Given the description of an element on the screen output the (x, y) to click on. 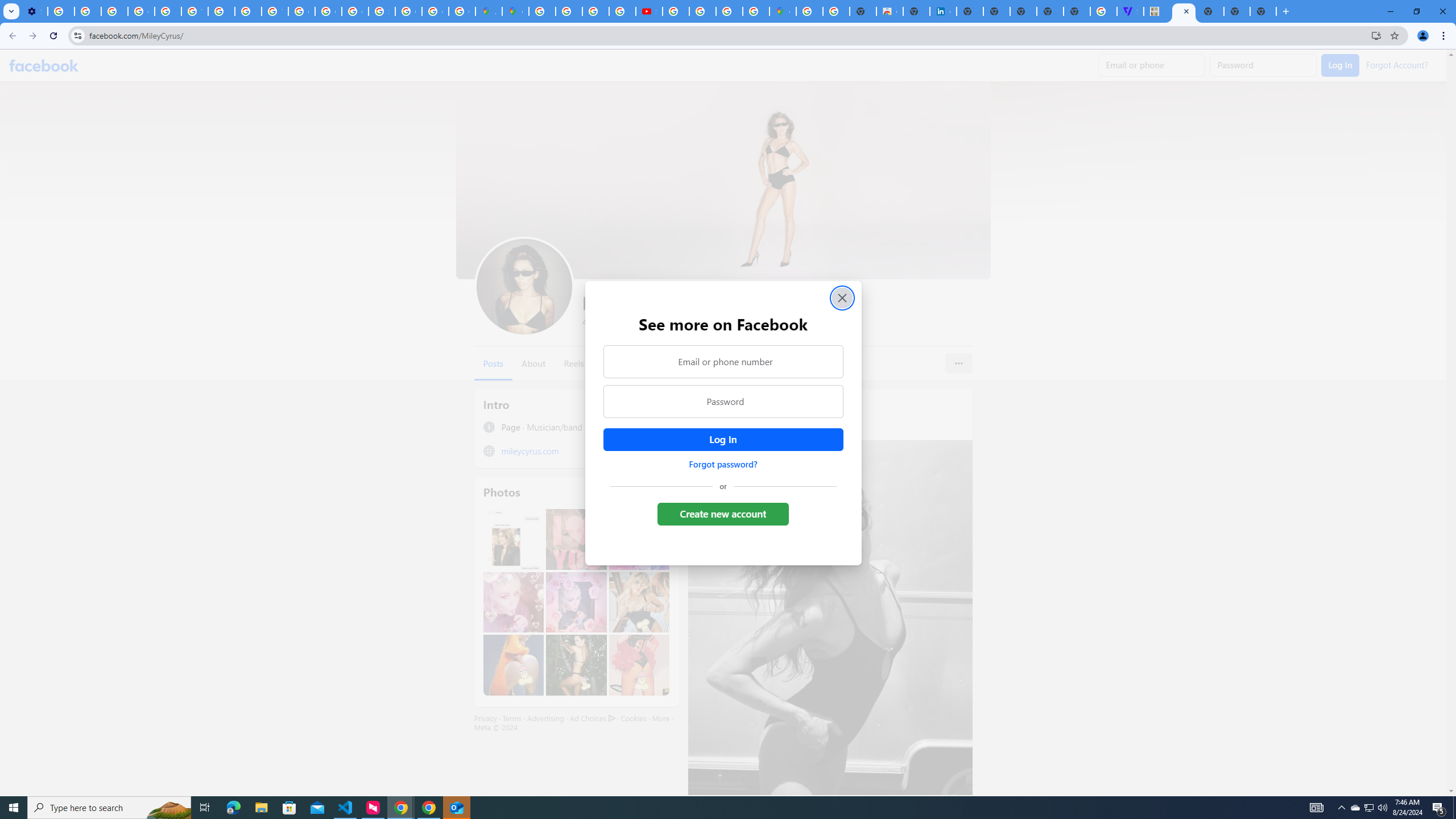
View site information (77, 35)
Subscriptions - YouTube (649, 11)
Create new account (722, 513)
Sign in - Google Accounts (382, 11)
Install Facebook (1376, 35)
Password (722, 400)
Google Maps (782, 11)
Email or phone (1151, 65)
New Tab (1262, 11)
MILEY CYRUS. (1156, 11)
